Given the description of an element on the screen output the (x, y) to click on. 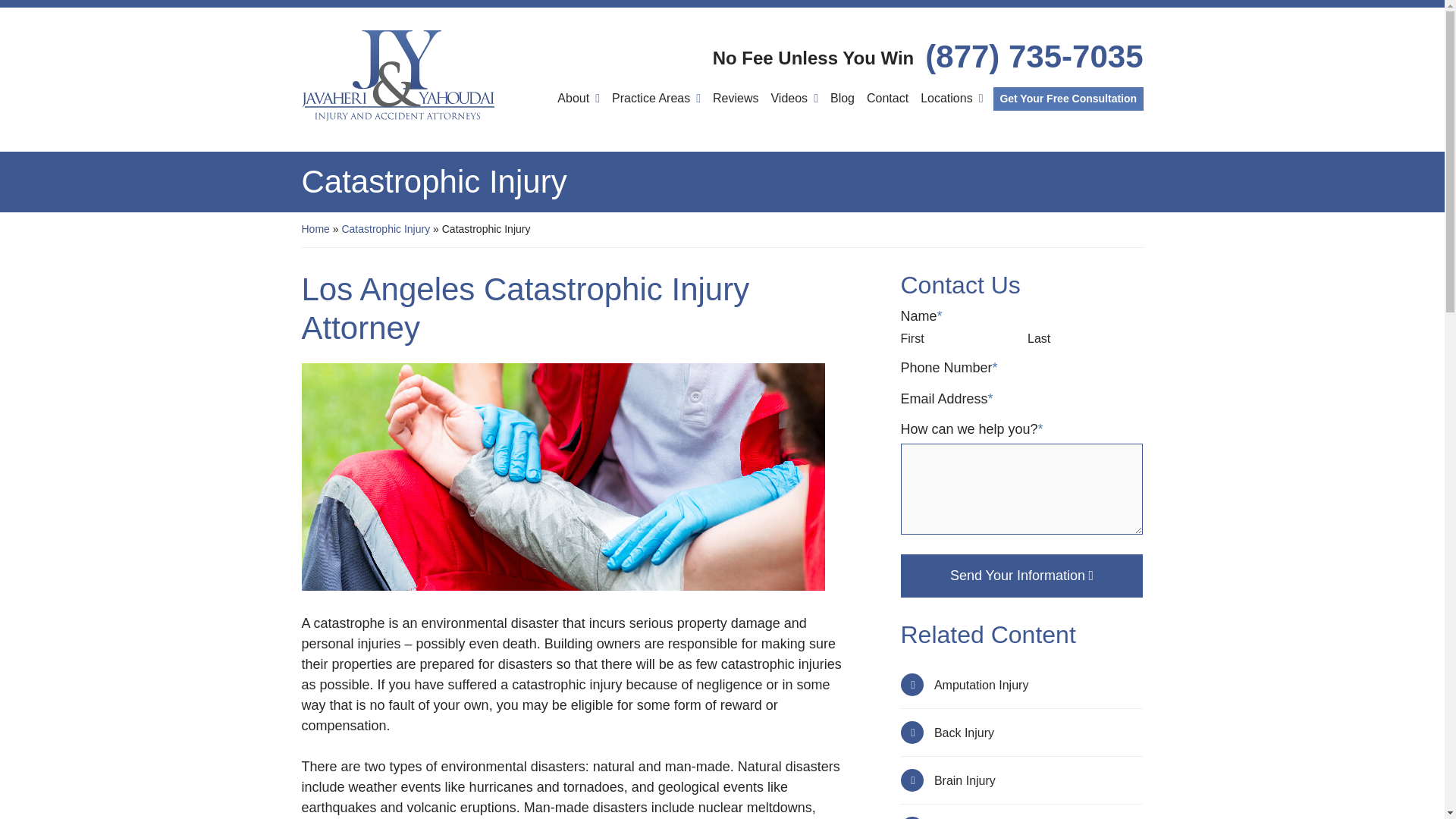
Videos (794, 100)
Practice Areas (655, 100)
Contact (887, 100)
About (578, 100)
Blog (842, 100)
Locations (951, 100)
Return home (398, 75)
Reviews (735, 100)
